Given the description of an element on the screen output the (x, y) to click on. 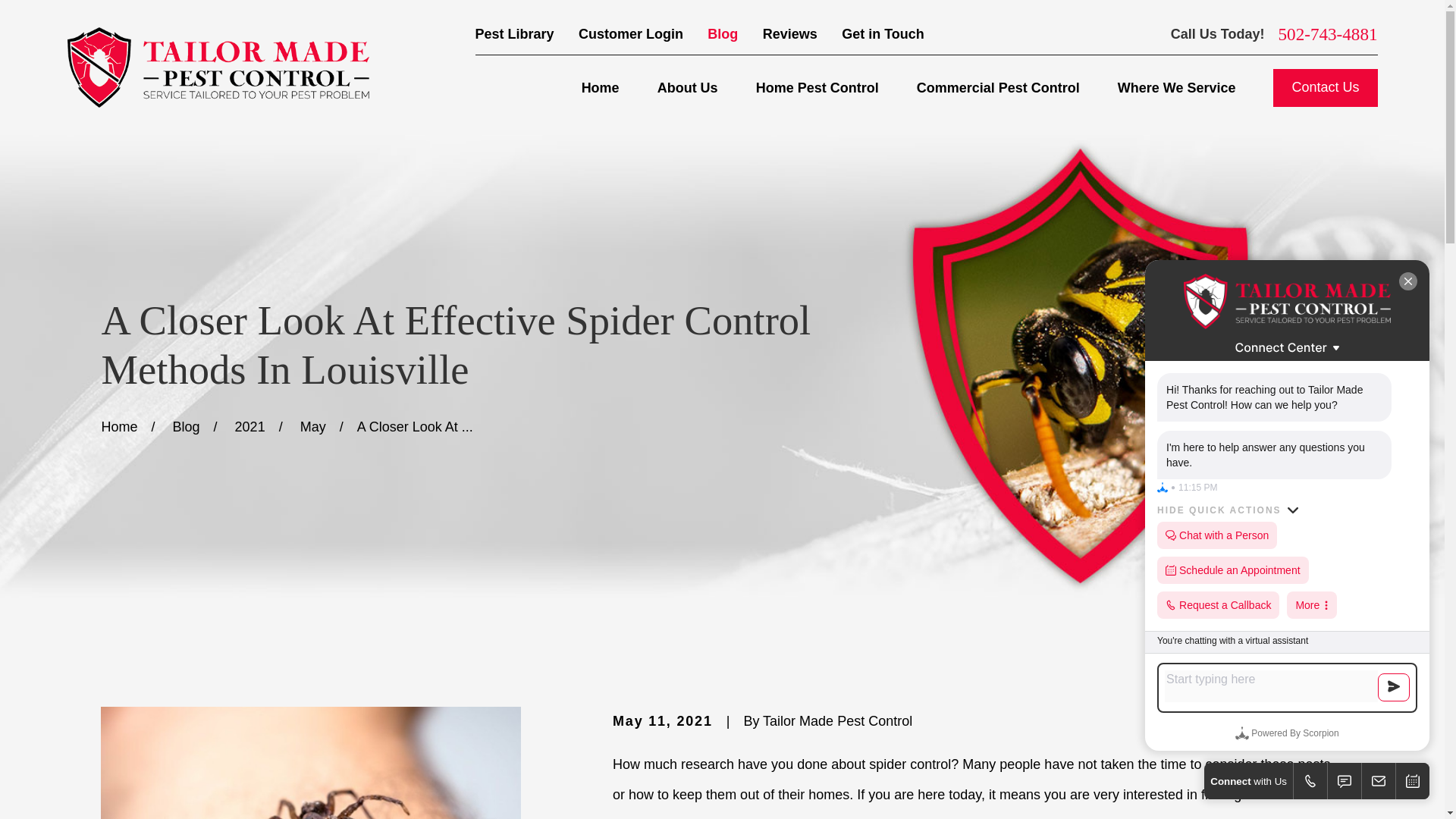
Tailor Made Pest Control (217, 67)
Reviews (789, 33)
502-743-4881 (1327, 34)
Where We Service (1177, 87)
Home (217, 67)
Go Home (118, 426)
Customer Login (630, 33)
Home Pest Control (817, 87)
Blog (722, 33)
Home (600, 87)
Pest Library (515, 33)
Commercial Pest Control (998, 87)
Get in Touch (882, 33)
About Us (687, 87)
